Given the description of an element on the screen output the (x, y) to click on. 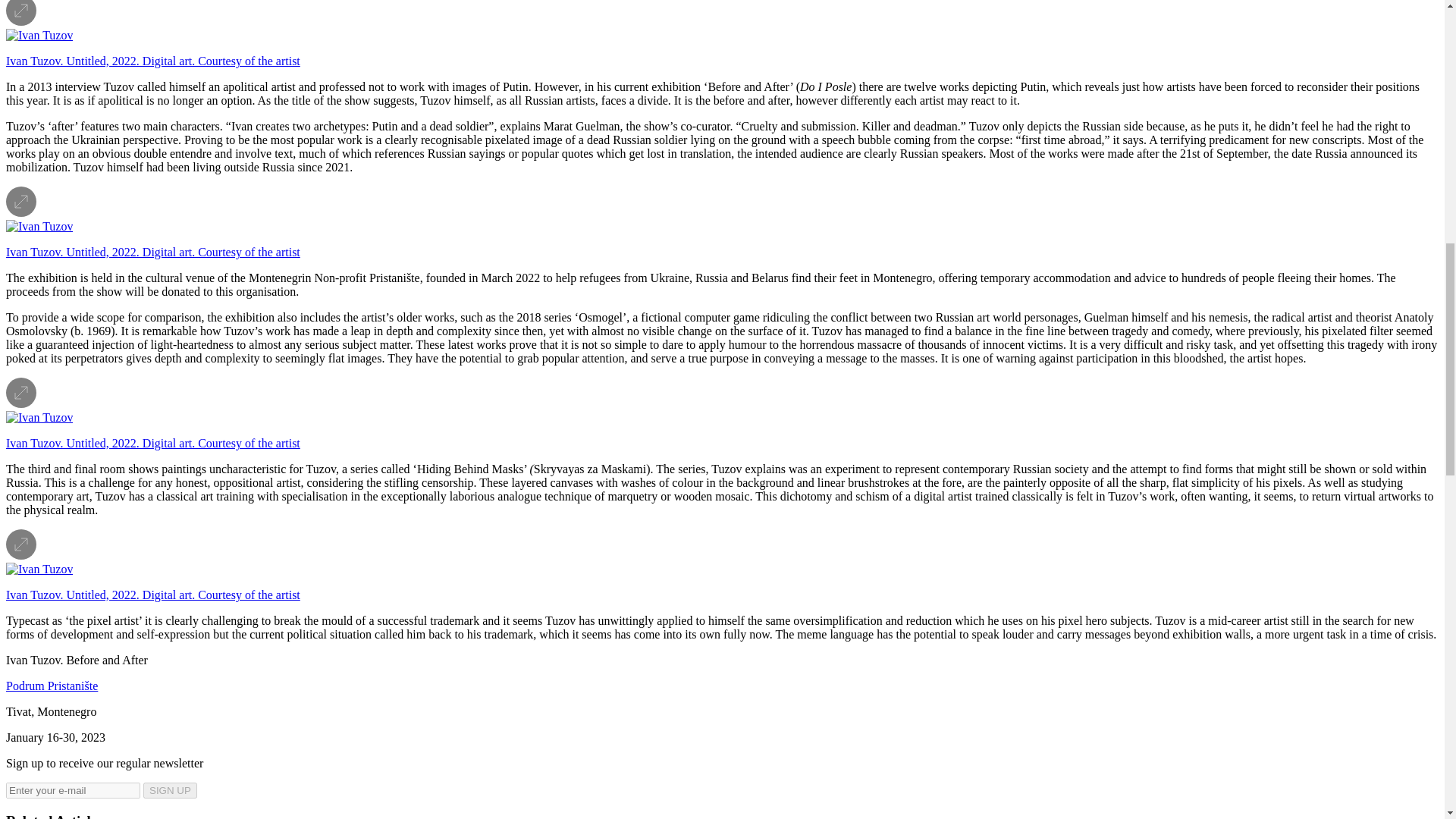
SIGN UP (169, 790)
Ivan Tuzov (38, 226)
Ivan Tuzov (38, 569)
Ivan Tuzov (38, 35)
Ivan Tuzov (38, 418)
SIGN UP (169, 790)
